Given the description of an element on the screen output the (x, y) to click on. 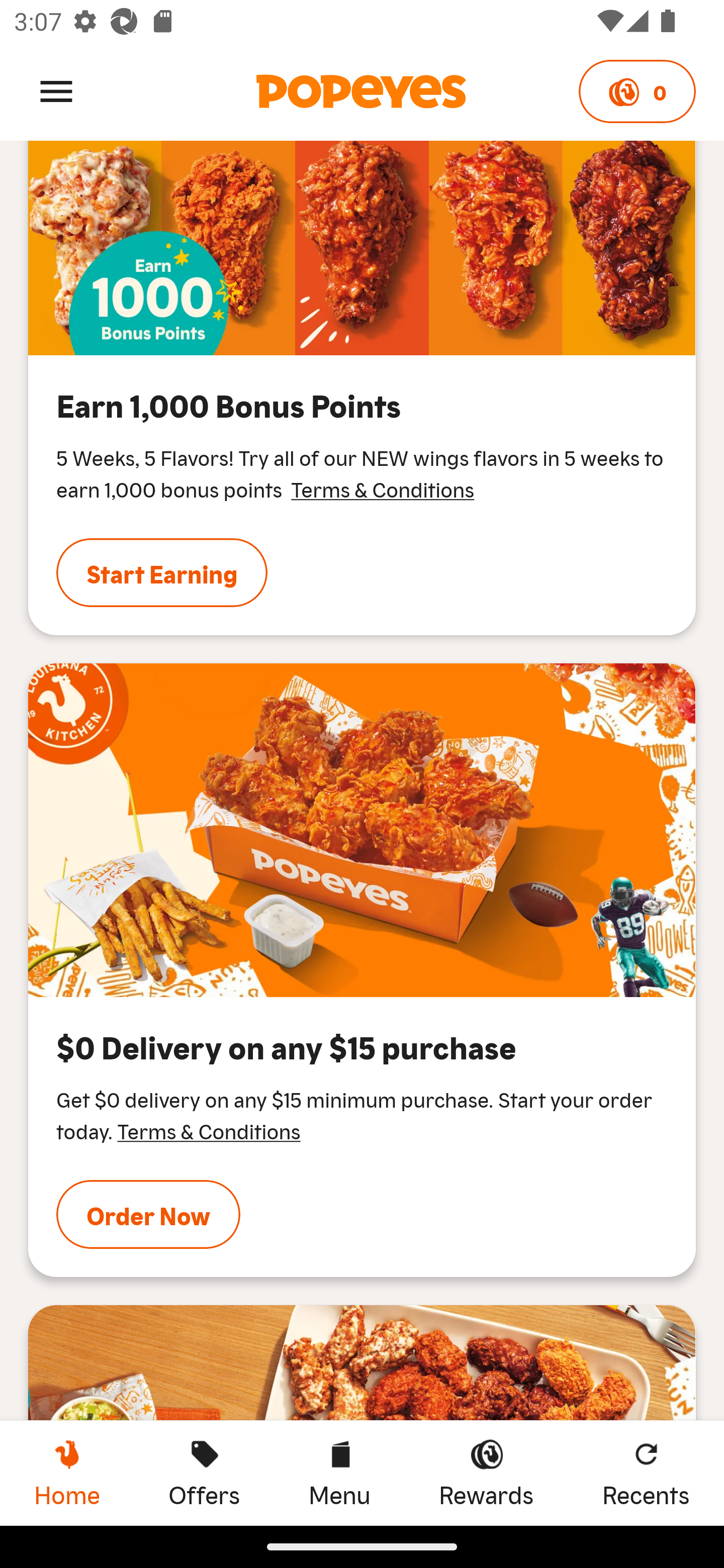
Menu  (56, 90)
0 Points 0 (636, 91)
Earn 1,000 Bonus Points (361, 248)
Start Earning (161, 571)
Popeyes Wings (361, 830)
Order Now (148, 1214)
Home, current page Home Home, current page (66, 1472)
Offers Offers Offers (203, 1472)
Menu Menu Menu (339, 1472)
Rewards Rewards Rewards (486, 1472)
Recents Recents Recents (646, 1472)
